Given the description of an element on the screen output the (x, y) to click on. 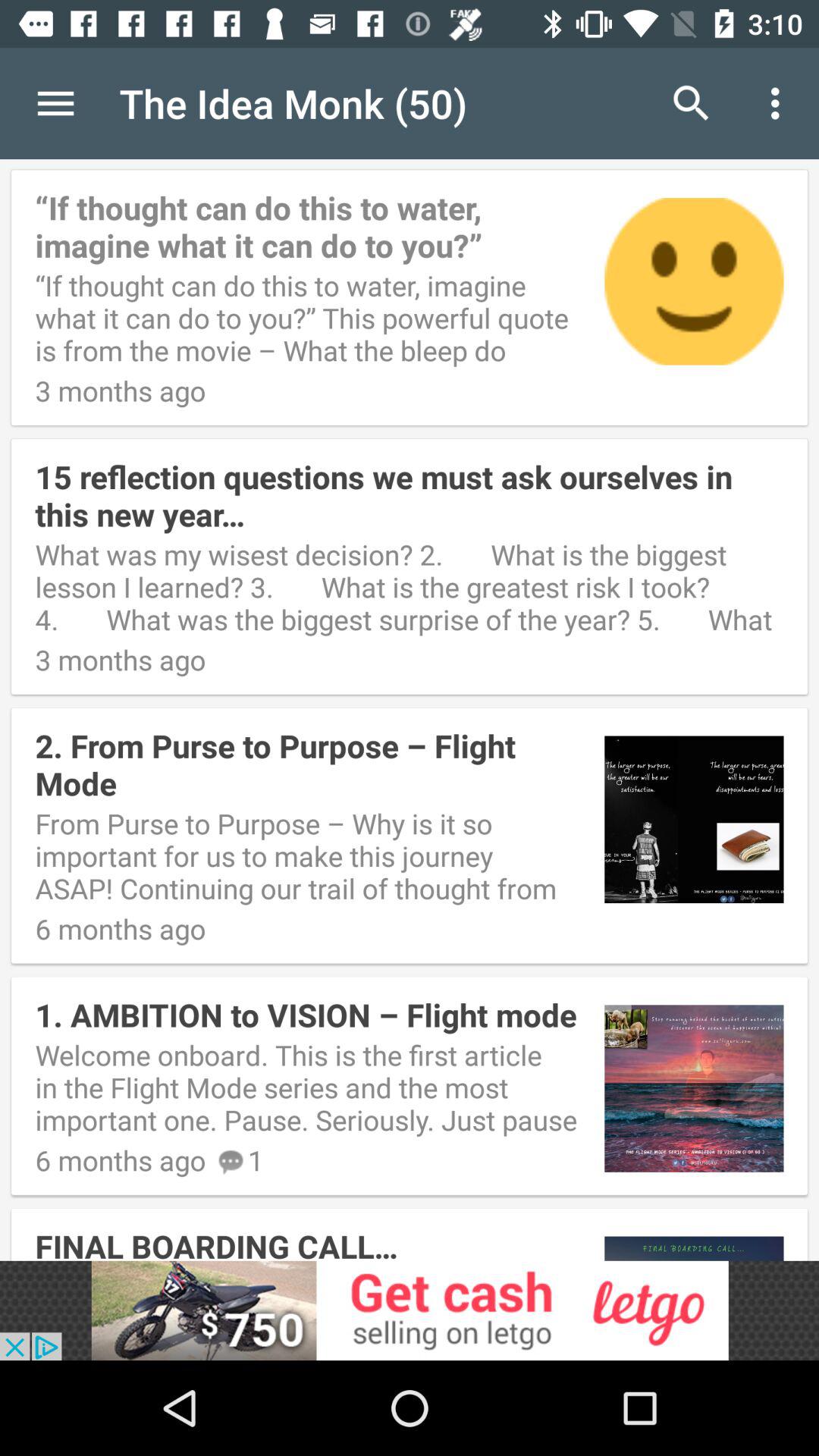
advertisement banner (409, 1310)
